Given the description of an element on the screen output the (x, y) to click on. 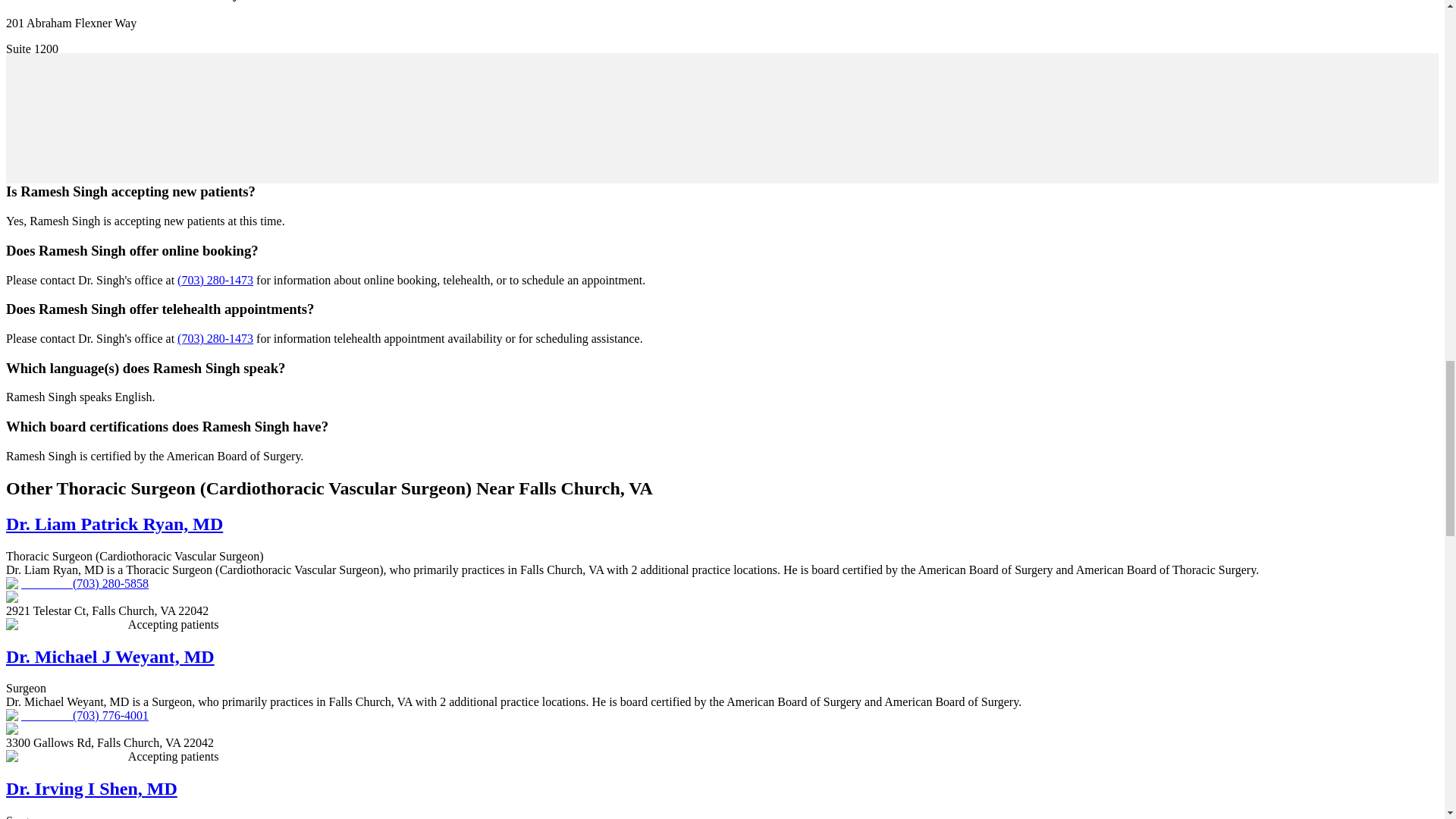
Get Directions (41, 125)
